Given the description of an element on the screen output the (x, y) to click on. 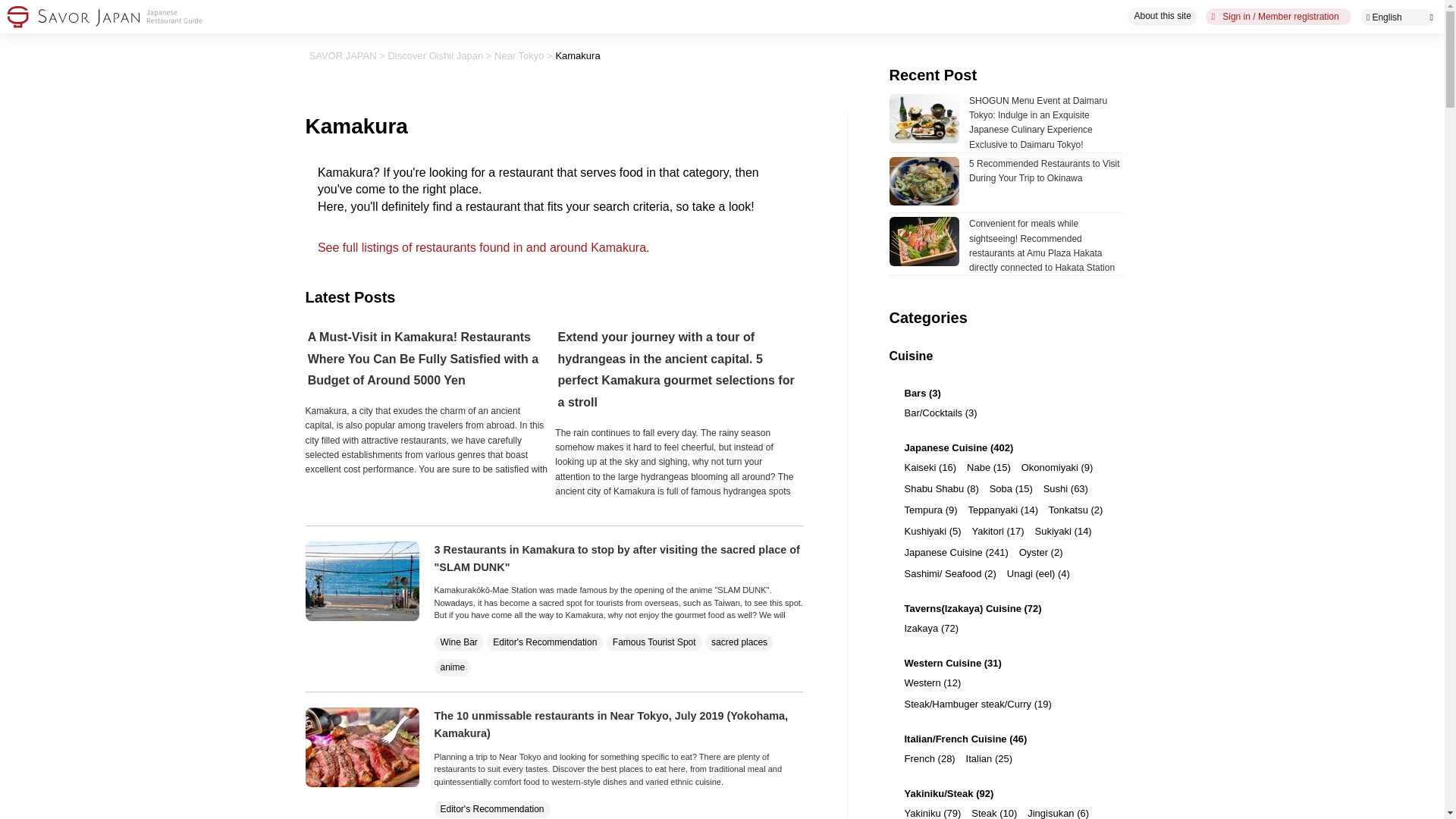
sacred places (738, 642)
Famous Tourist Spot (654, 642)
About this site (1161, 16)
anime (451, 667)
SAVOR JAPAN (342, 55)
Near Tokyo (519, 55)
Discover Oishii Japan (435, 55)
Editor's Recommendation (544, 642)
Wine Bar (458, 642)
